Given the description of an element on the screen output the (x, y) to click on. 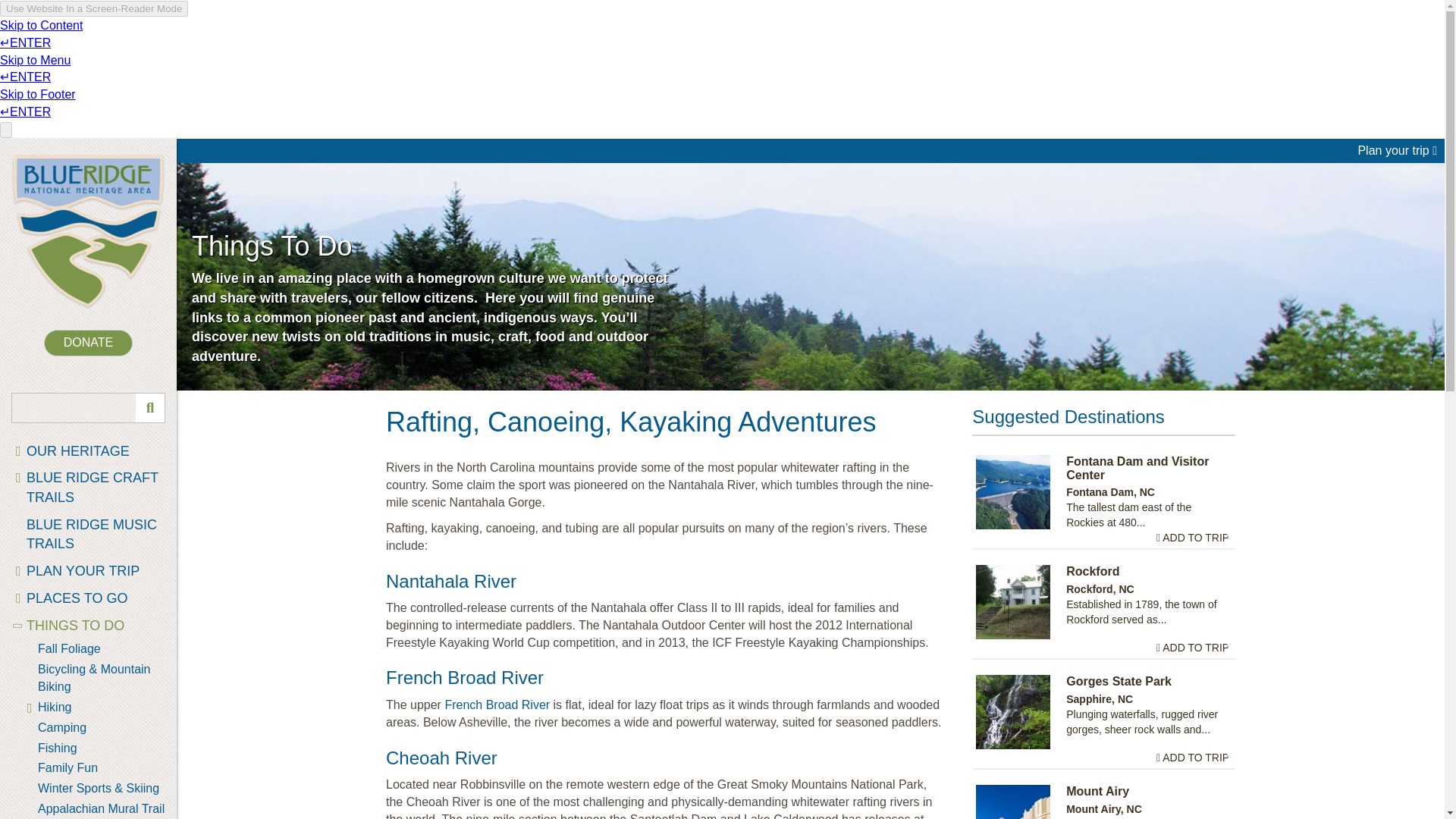
Donate (87, 343)
Search (88, 408)
OUR HERITAGE (88, 452)
Search Submit (149, 407)
DONATE (87, 343)
